Given the description of an element on the screen output the (x, y) to click on. 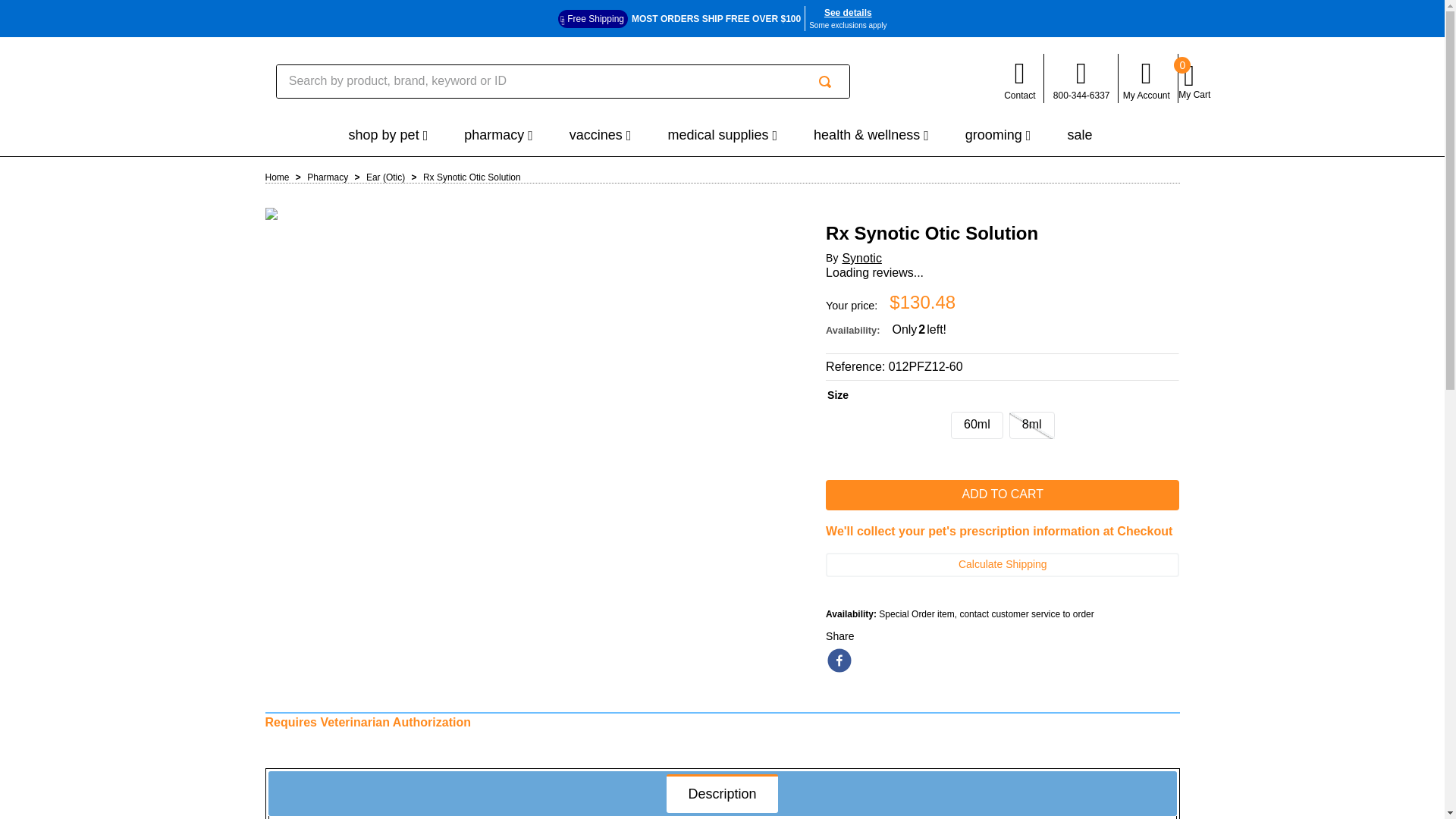
Pharmacy (498, 135)
0 (1194, 82)
Description (721, 794)
Home (276, 176)
grooming (997, 135)
sale (1081, 135)
My Account (1146, 78)
ADD TO CART (1002, 494)
Contact (1019, 78)
pharmacy (498, 135)
012PFZ12-60-1-HR (271, 214)
sale (1081, 135)
Calculate Shipping (1002, 564)
Synotic (860, 258)
grooming (997, 135)
